Given the description of an element on the screen output the (x, y) to click on. 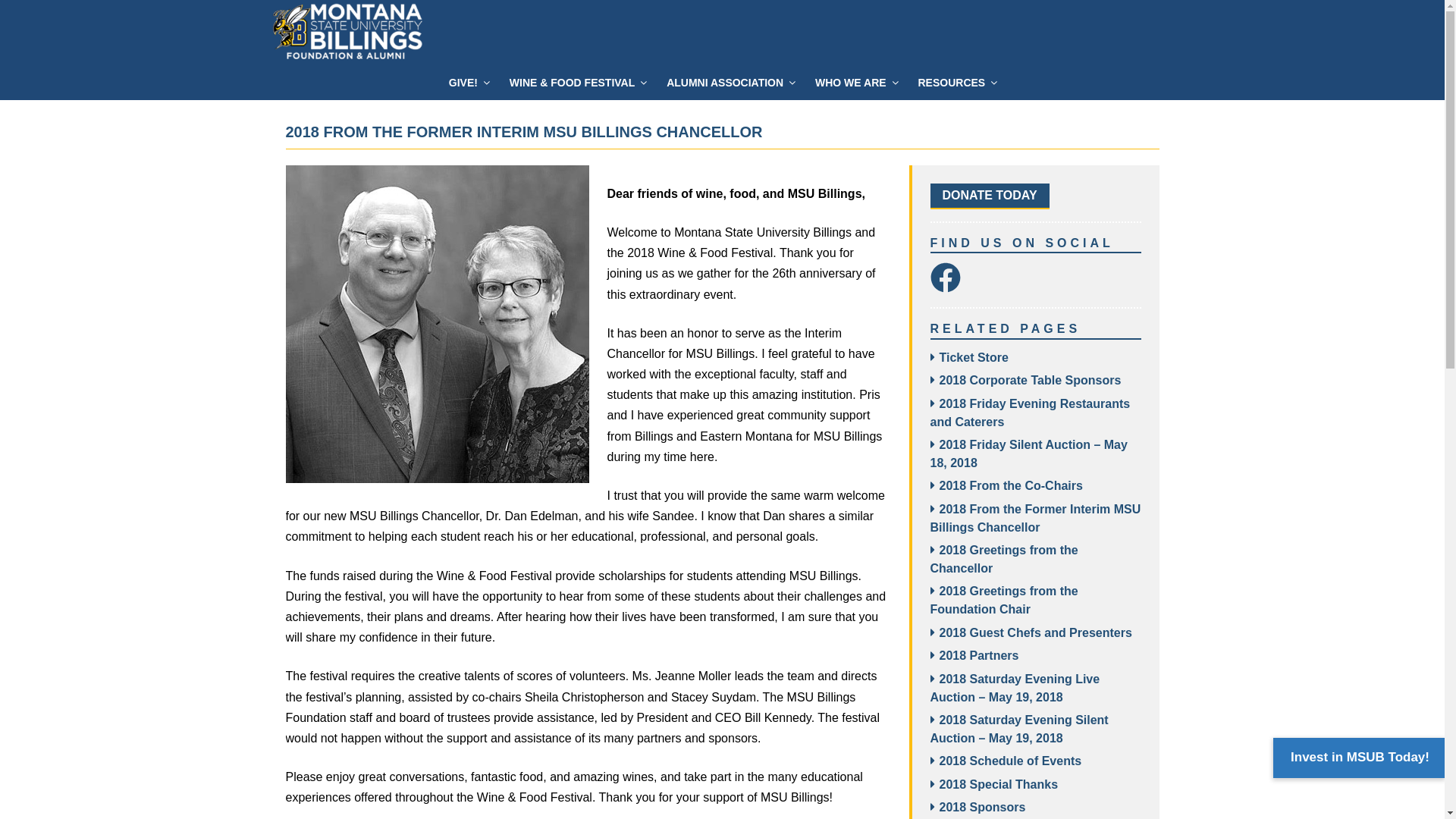
Make a Gift to MSUB Foundation (989, 196)
RESOURCES (956, 82)
Find us on Facebook (944, 277)
Ticket Store (973, 357)
WHO WE ARE (855, 82)
ALUMNI ASSOCIATION (730, 82)
GIVE! (468, 82)
